Given the description of an element on the screen output the (x, y) to click on. 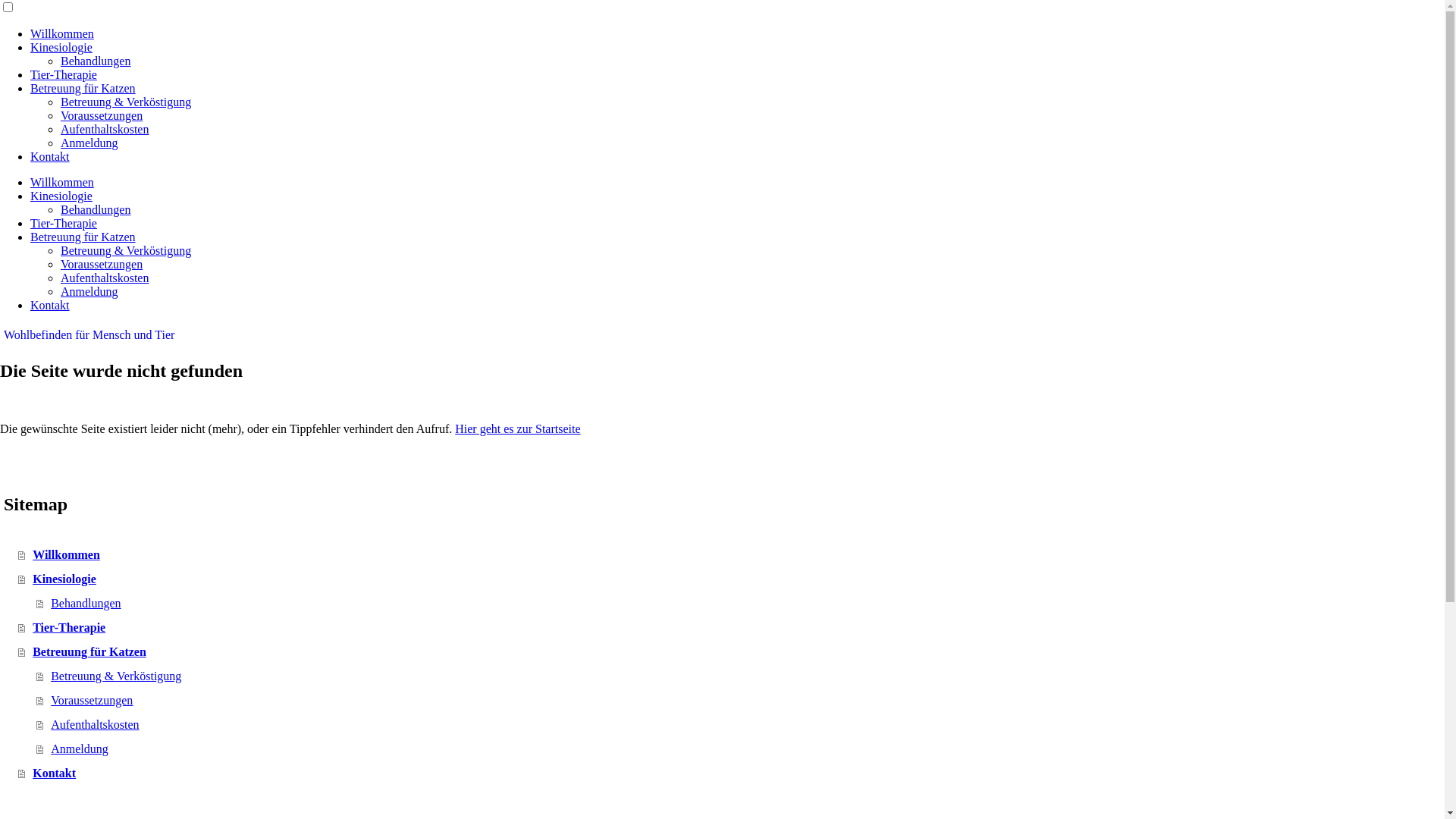
Voraussetzungen Element type: text (101, 115)
Behandlungen Element type: text (740, 603)
Willkommen Element type: text (62, 33)
Hier geht es zur Startseite Element type: text (517, 428)
Willkommen Element type: text (731, 554)
Anmeldung Element type: text (740, 749)
Aufenthaltskosten Element type: text (104, 277)
Tier-Therapie Element type: text (63, 74)
Tier-Therapie Element type: text (63, 222)
Voraussetzungen Element type: text (101, 263)
Tier-Therapie Element type: text (731, 627)
Behandlungen Element type: text (95, 60)
Kinesiologie Element type: text (61, 195)
Aufenthaltskosten Element type: text (740, 724)
Anmeldung Element type: text (89, 142)
Kontakt Element type: text (731, 773)
Anmeldung Element type: text (89, 291)
Willkommen Element type: text (62, 181)
Voraussetzungen Element type: text (740, 700)
Aufenthaltskosten Element type: text (104, 128)
Kinesiologie Element type: text (61, 46)
Behandlungen Element type: text (95, 209)
Kinesiologie Element type: text (731, 579)
Kontakt Element type: text (49, 156)
Kontakt Element type: text (49, 304)
